Given the description of an element on the screen output the (x, y) to click on. 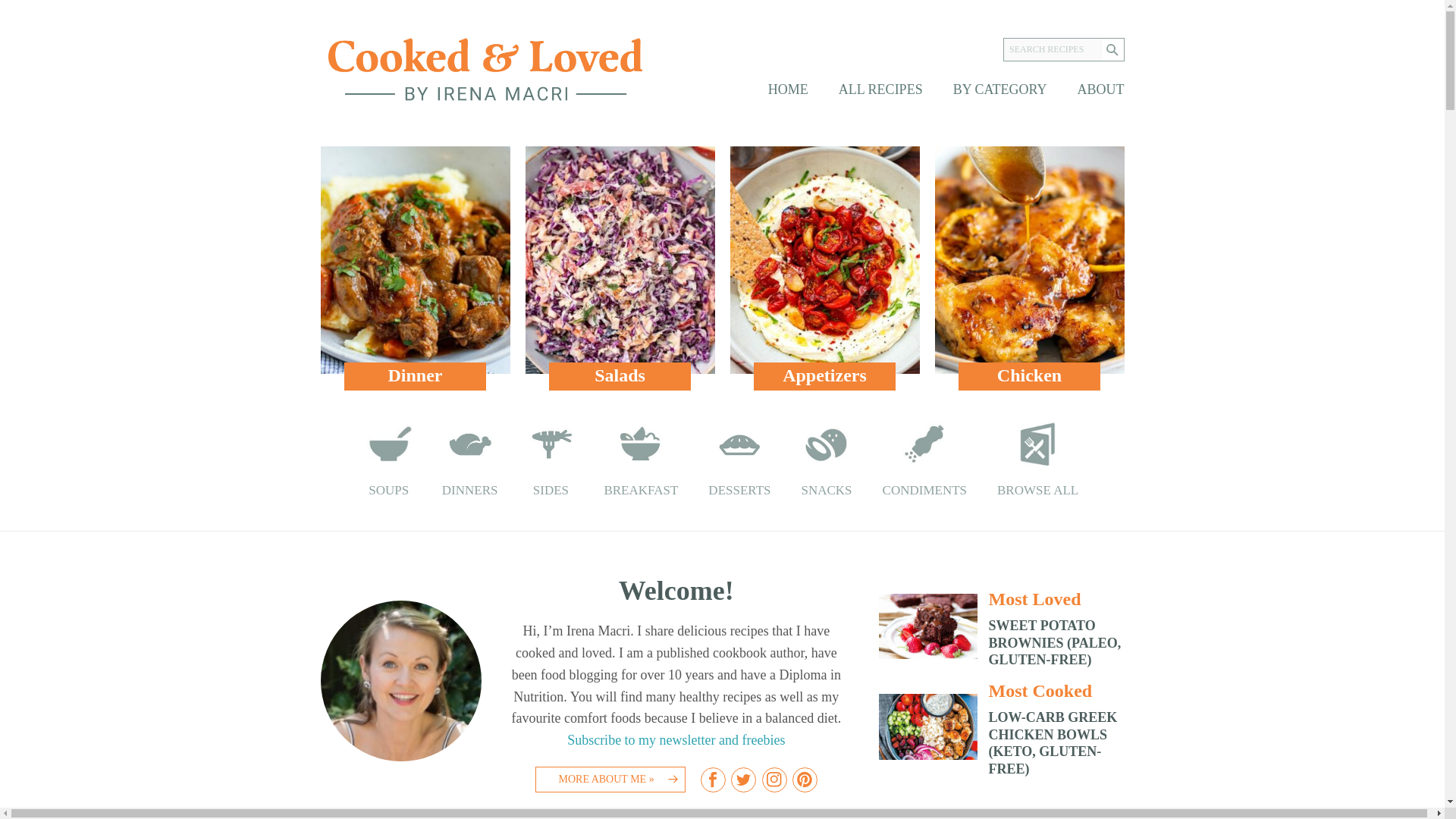
ALL RECIPES (880, 89)
Browse All (1037, 460)
HOME (788, 89)
Condiments (924, 460)
BY CATEGORY (999, 89)
Breakfast (641, 460)
Search (1113, 49)
View Instagram profile (774, 779)
View Twitter profile (742, 779)
View Facebook profile (712, 779)
